Given the description of an element on the screen output the (x, y) to click on. 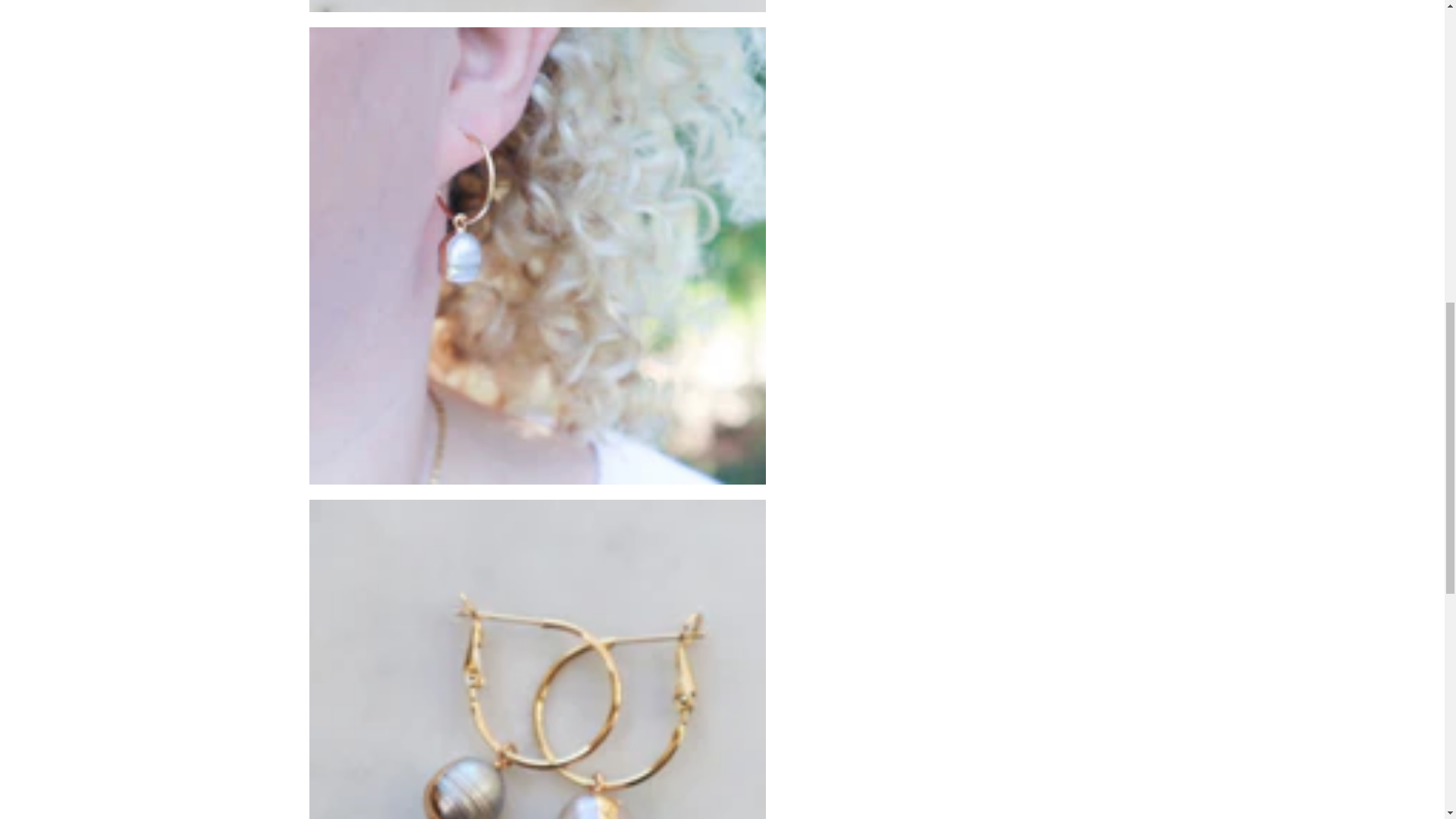
Fresh water pearl hoops (536, 6)
